Given the description of an element on the screen output the (x, y) to click on. 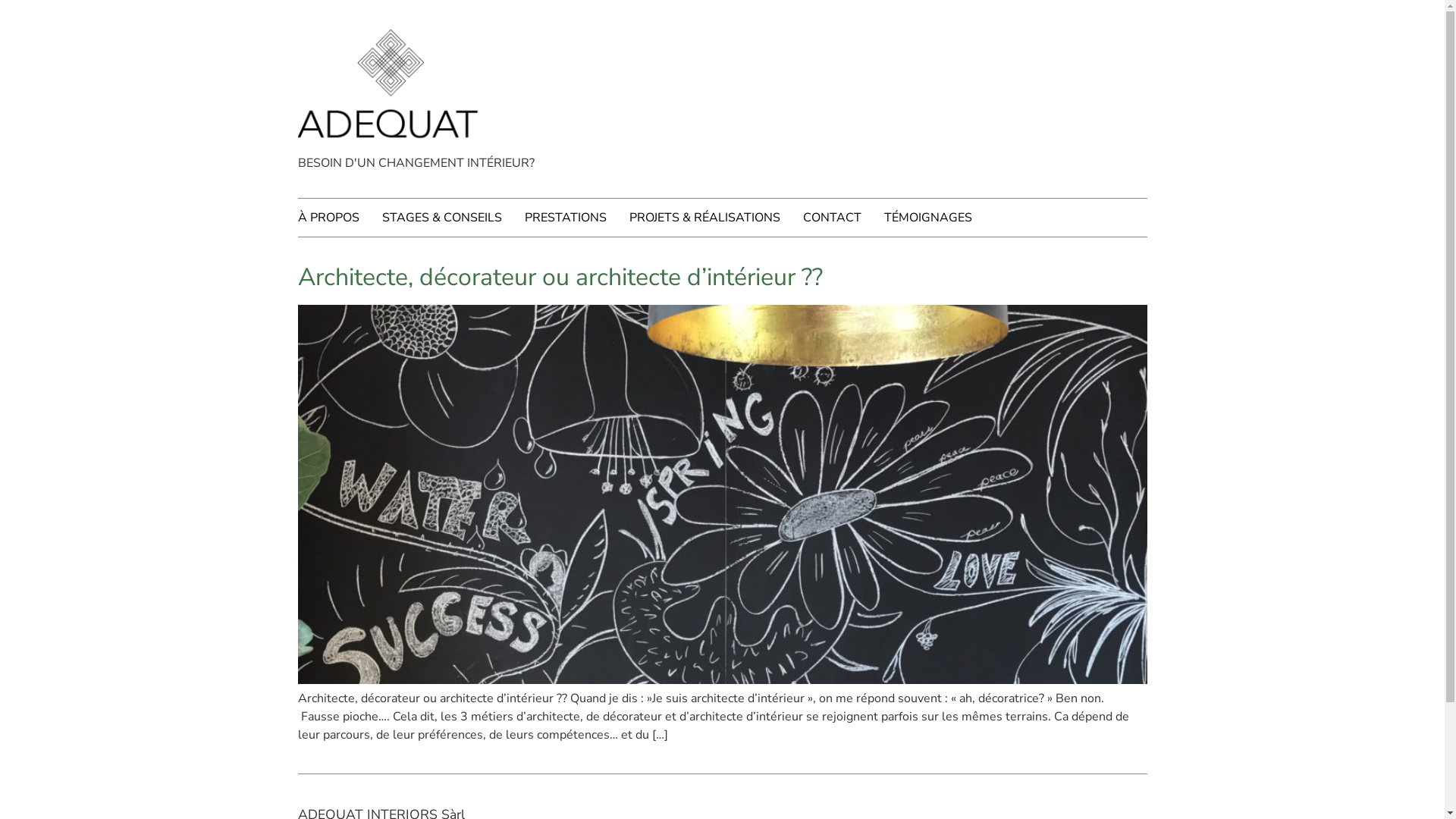
STAGES & CONSEILS Element type: text (453, 217)
PRESTATIONS Element type: text (576, 217)
CONTACT Element type: text (842, 217)
